Given the description of an element on the screen output the (x, y) to click on. 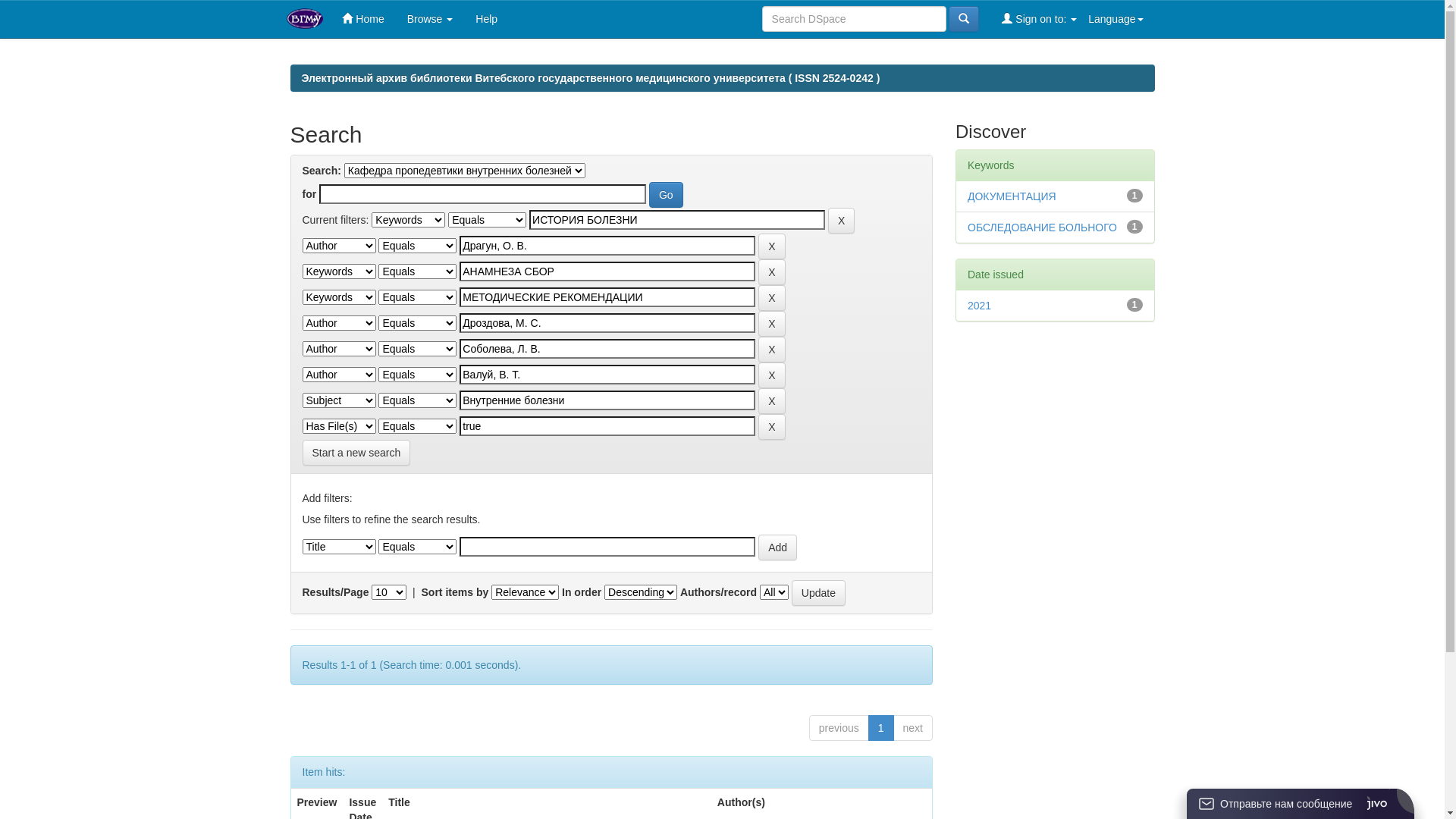
X Element type: text (771, 375)
X Element type: text (771, 297)
X Element type: text (771, 401)
2021 Element type: text (979, 305)
Update Element type: text (818, 592)
Help Element type: text (486, 18)
Home Element type: text (362, 18)
X Element type: text (771, 426)
Start a new search Element type: text (355, 452)
X Element type: text (841, 220)
Browse Element type: text (429, 18)
Language Element type: text (1115, 18)
Sign on to: Element type: text (1039, 18)
Add Element type: text (777, 547)
X Element type: text (771, 349)
X Element type: text (771, 246)
X Element type: text (771, 323)
X Element type: text (771, 272)
Go Element type: text (666, 194)
